Given the description of an element on the screen output the (x, y) to click on. 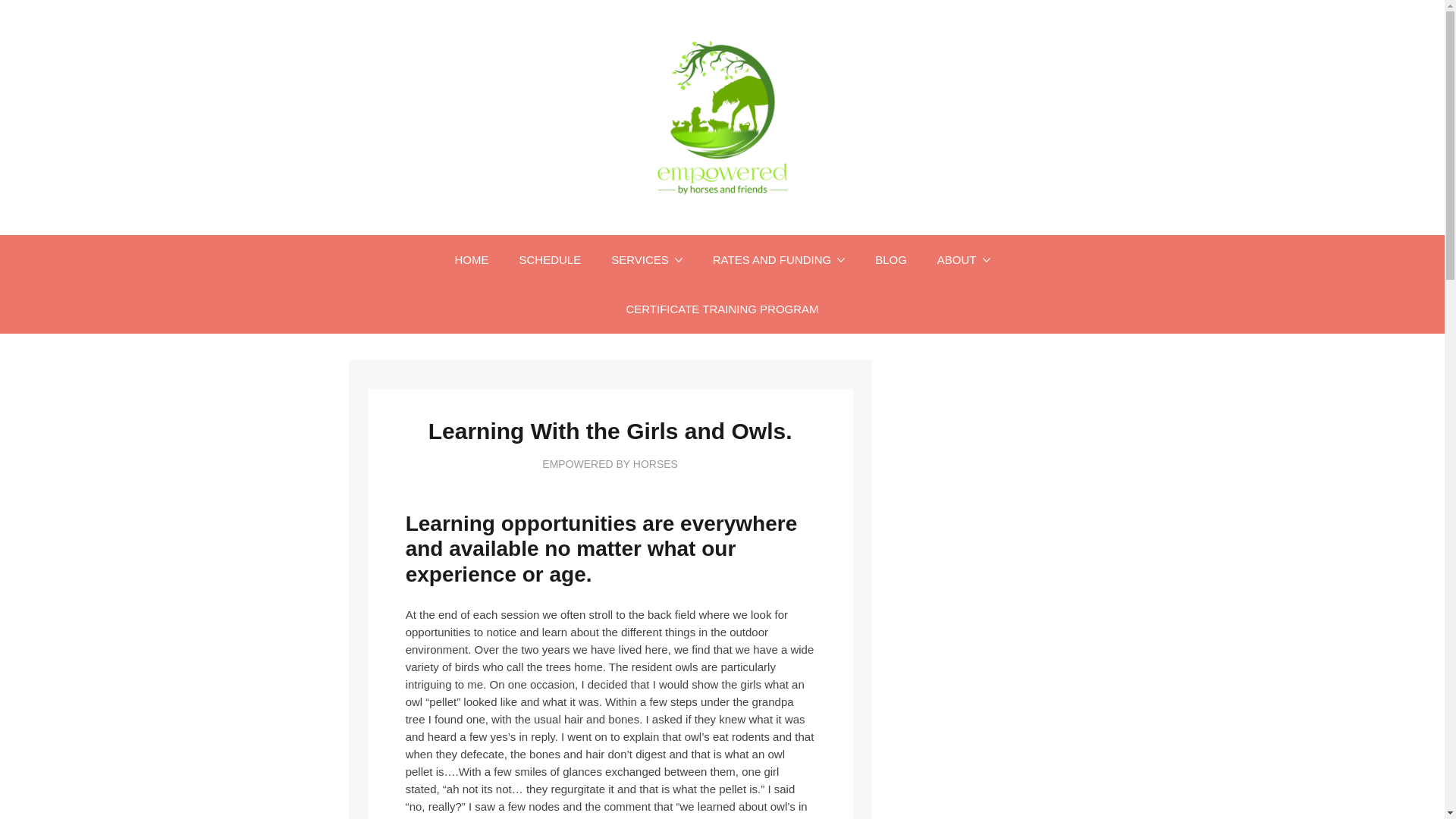
EMPOWERED BY HORSES (609, 463)
BLOG (890, 259)
CERTIFICATE TRAINING PROGRAM (721, 308)
ABOUT (963, 259)
RATES AND FUNDING (778, 259)
HOME (471, 259)
SCHEDULE (549, 259)
SERVICES (646, 259)
